Given the description of an element on the screen output the (x, y) to click on. 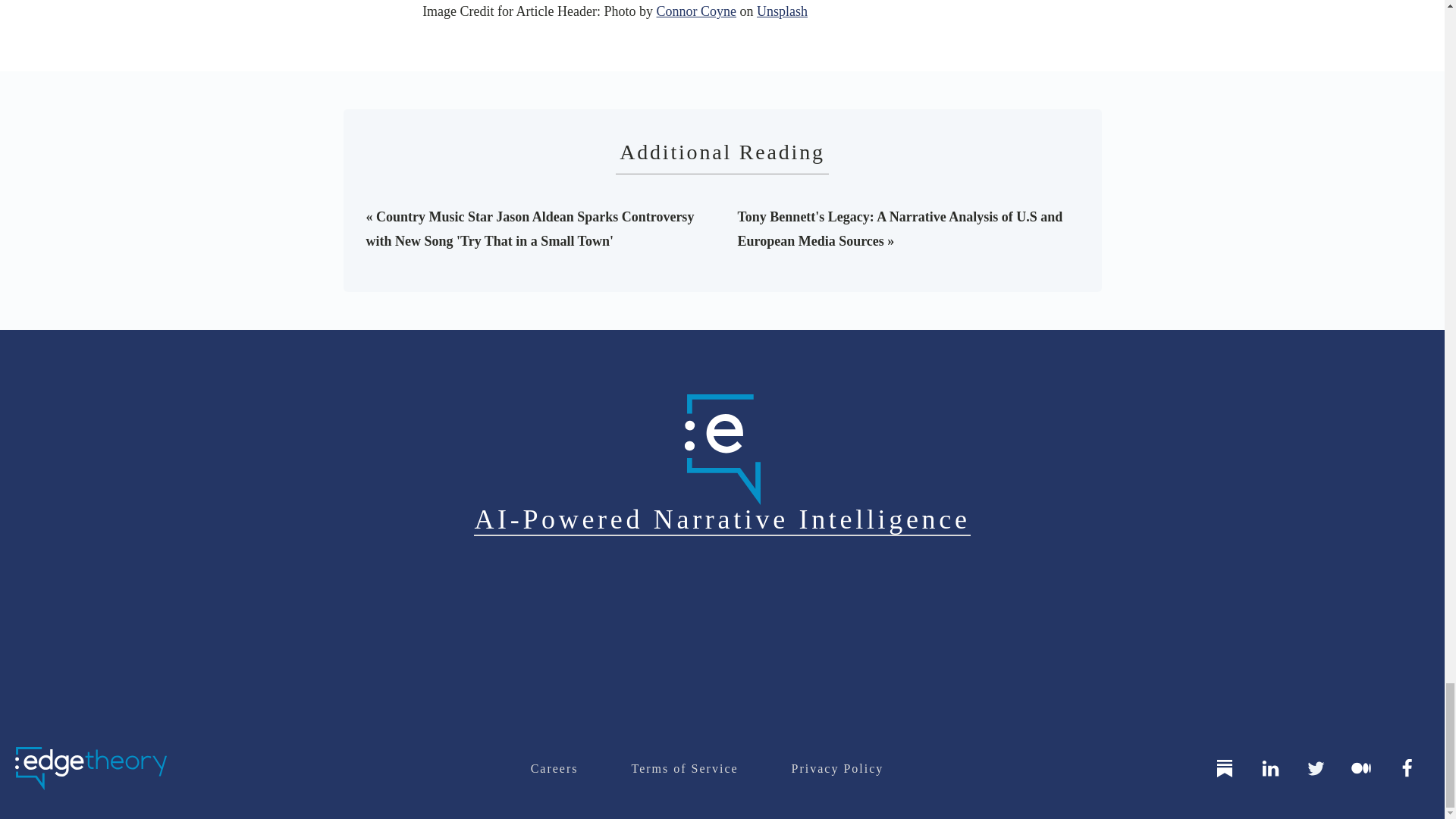
Unsplash (782, 11)
Connor Coyne (696, 11)
